Given the description of an element on the screen output the (x, y) to click on. 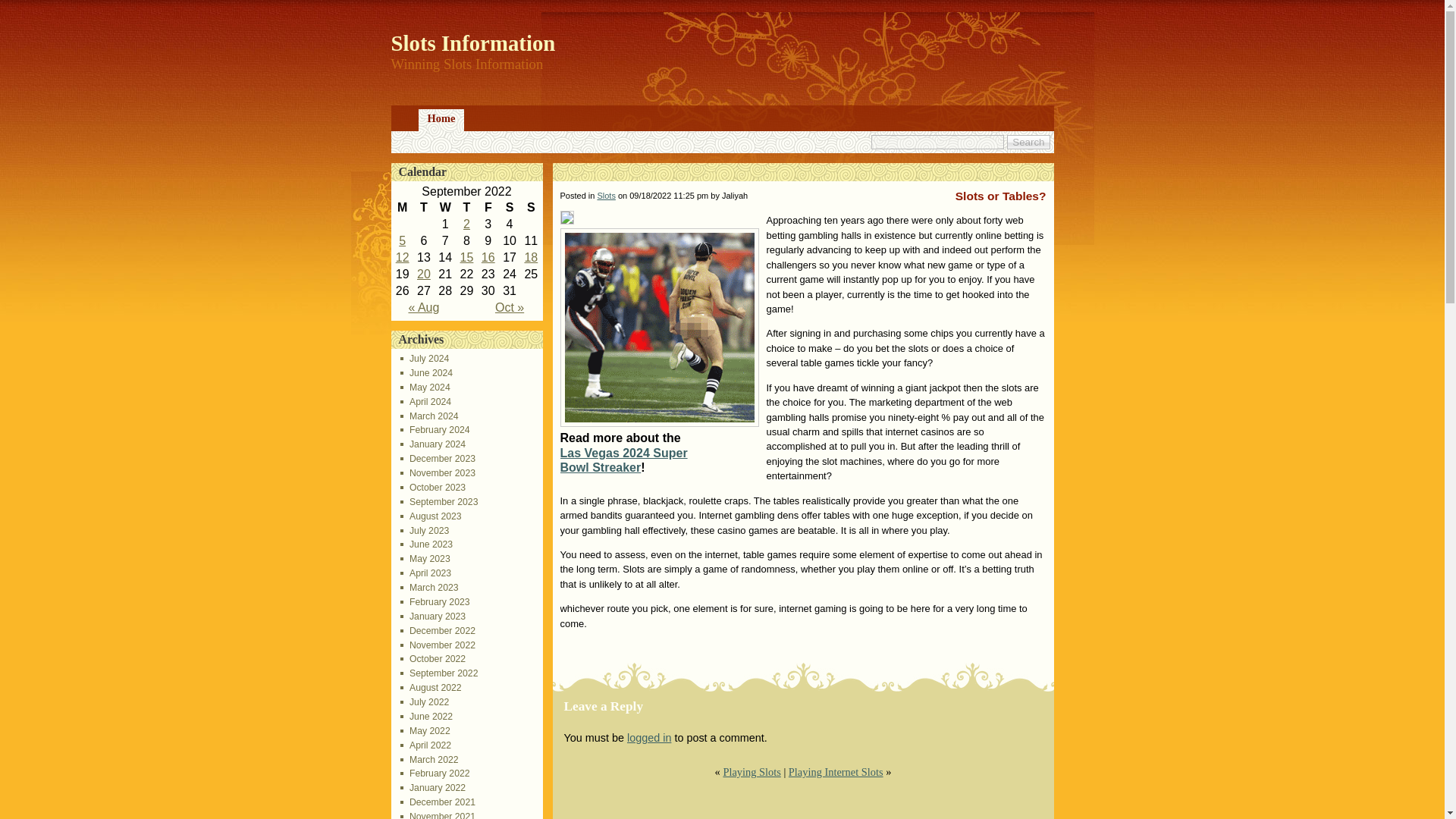
Slots Information (473, 43)
View posts for October 2022 (509, 307)
June 2022 (426, 716)
Search (1028, 142)
July 2022 (424, 701)
June 2023 (426, 543)
February 2024 (435, 429)
August 2023 (430, 516)
March 2024 (429, 416)
October 2023 (432, 487)
